Given the description of an element on the screen output the (x, y) to click on. 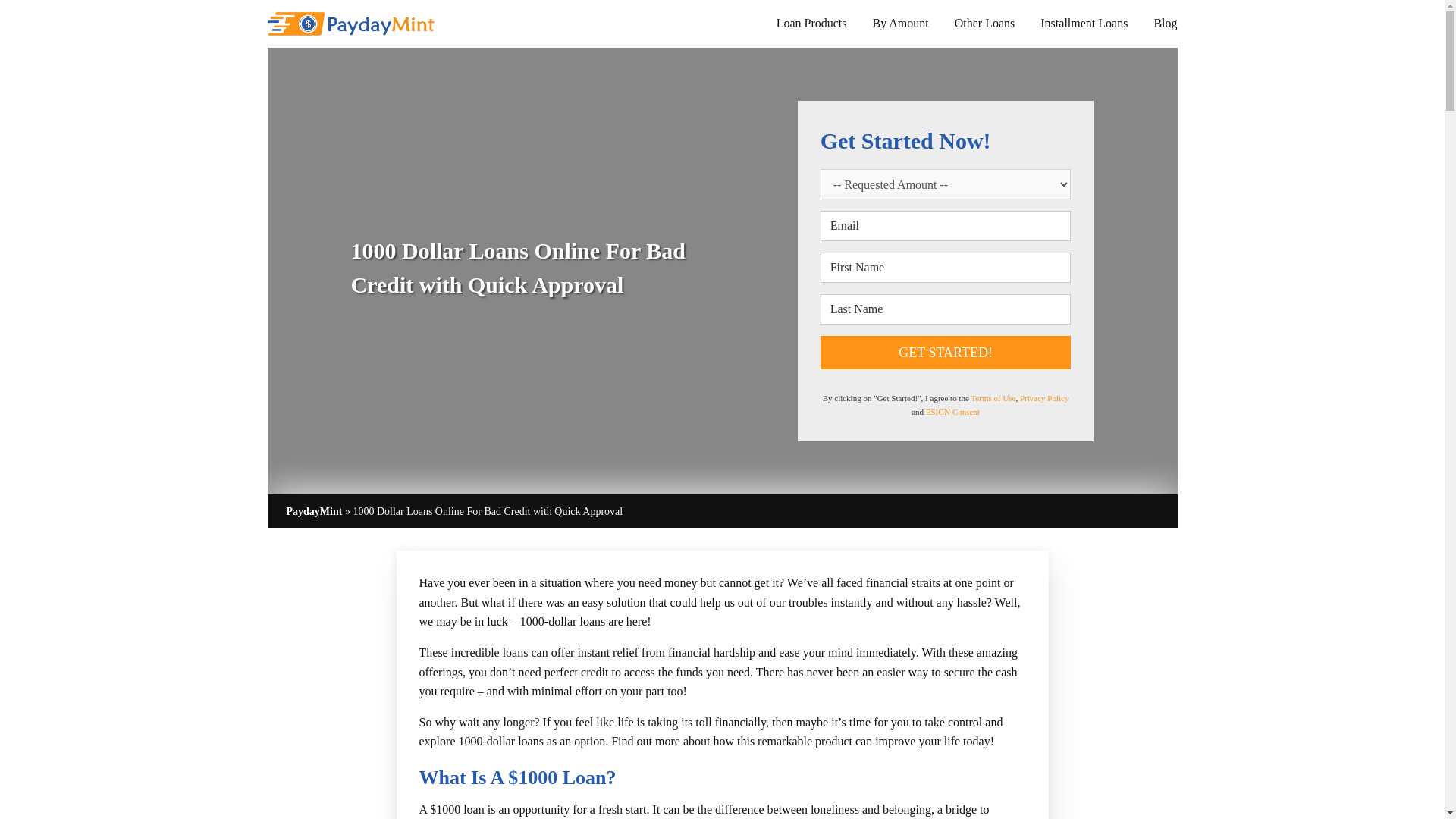
Blog (1164, 22)
Loan Products (811, 22)
Get Started! (946, 352)
Installment Loans (1083, 22)
By Amount (900, 22)
Get Started! (946, 352)
Other Loans (984, 22)
Go to PaydayMint. (314, 511)
